Given the description of an element on the screen output the (x, y) to click on. 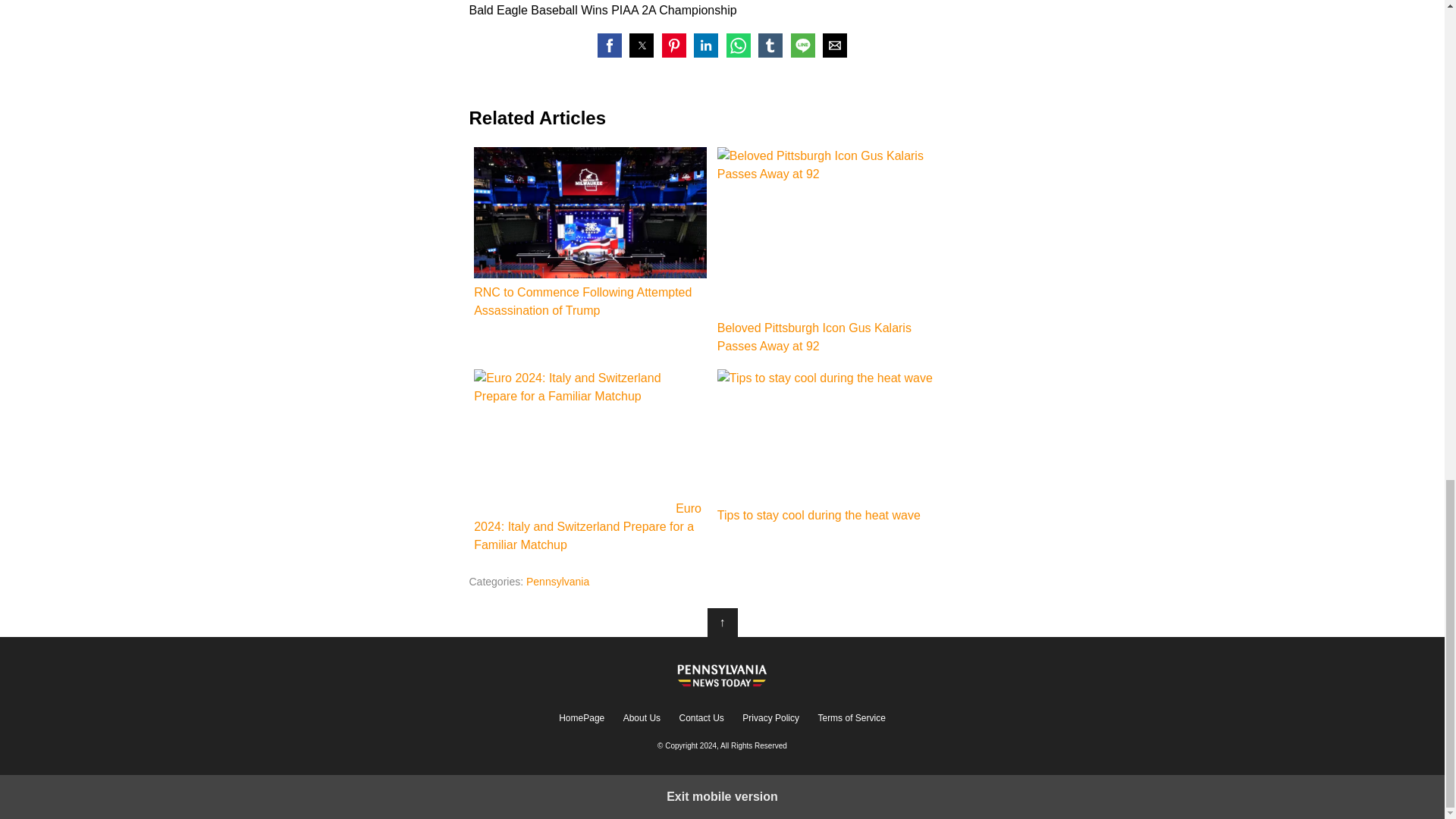
Beloved Pittsburgh Icon Gus Kalaris Passes Away at 92 (829, 230)
Tips to stay cool during the heat wave (833, 446)
Pennsylvania (557, 581)
Beloved Pittsburgh Icon Gus Kalaris Passes Away at 92 (833, 251)
Contact Us (701, 717)
About Us (641, 717)
Pennsylvanianewstoday.com (721, 673)
RNC to Commence Following Attempted Assassination of Trump (590, 233)
